Given the description of an element on the screen output the (x, y) to click on. 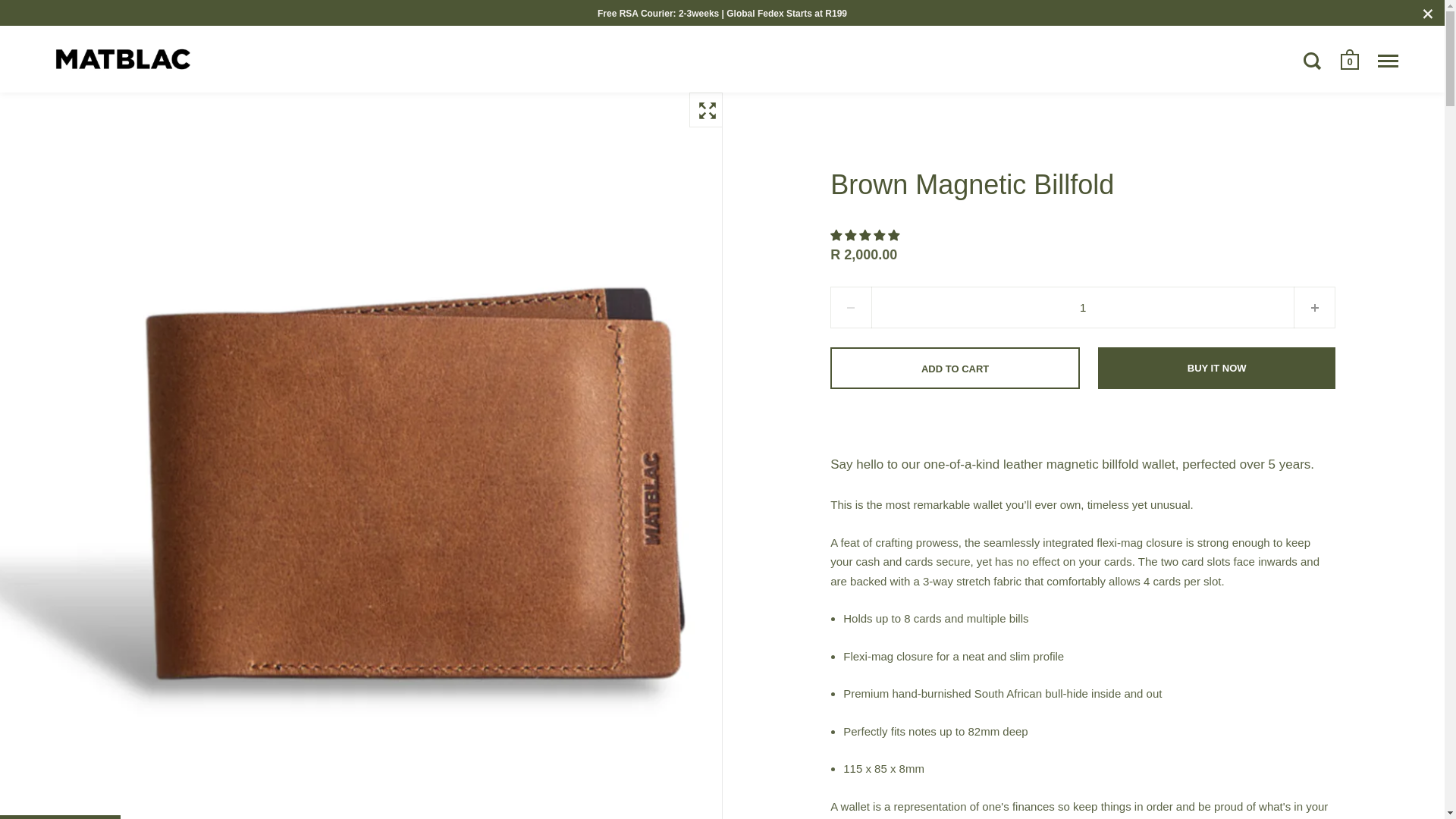
Open menu (1387, 60)
ADD TO CART (954, 368)
Open cart (1350, 59)
1 (1082, 307)
Open search (1313, 60)
BUY IT NOW (1216, 368)
Zoom in (705, 109)
